Given the description of an element on the screen output the (x, y) to click on. 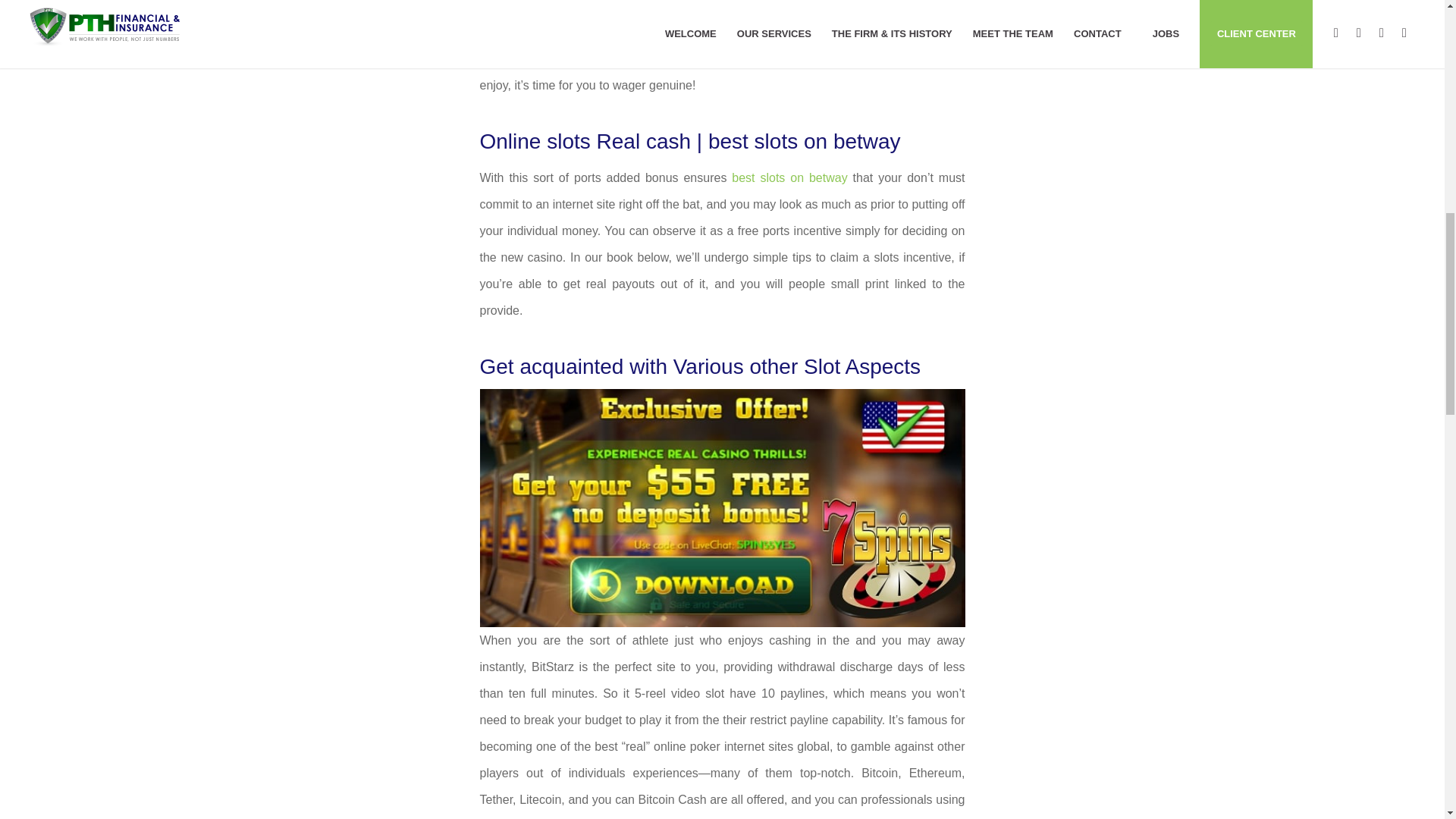
best slots on betway (789, 177)
